Given the description of an element on the screen output the (x, y) to click on. 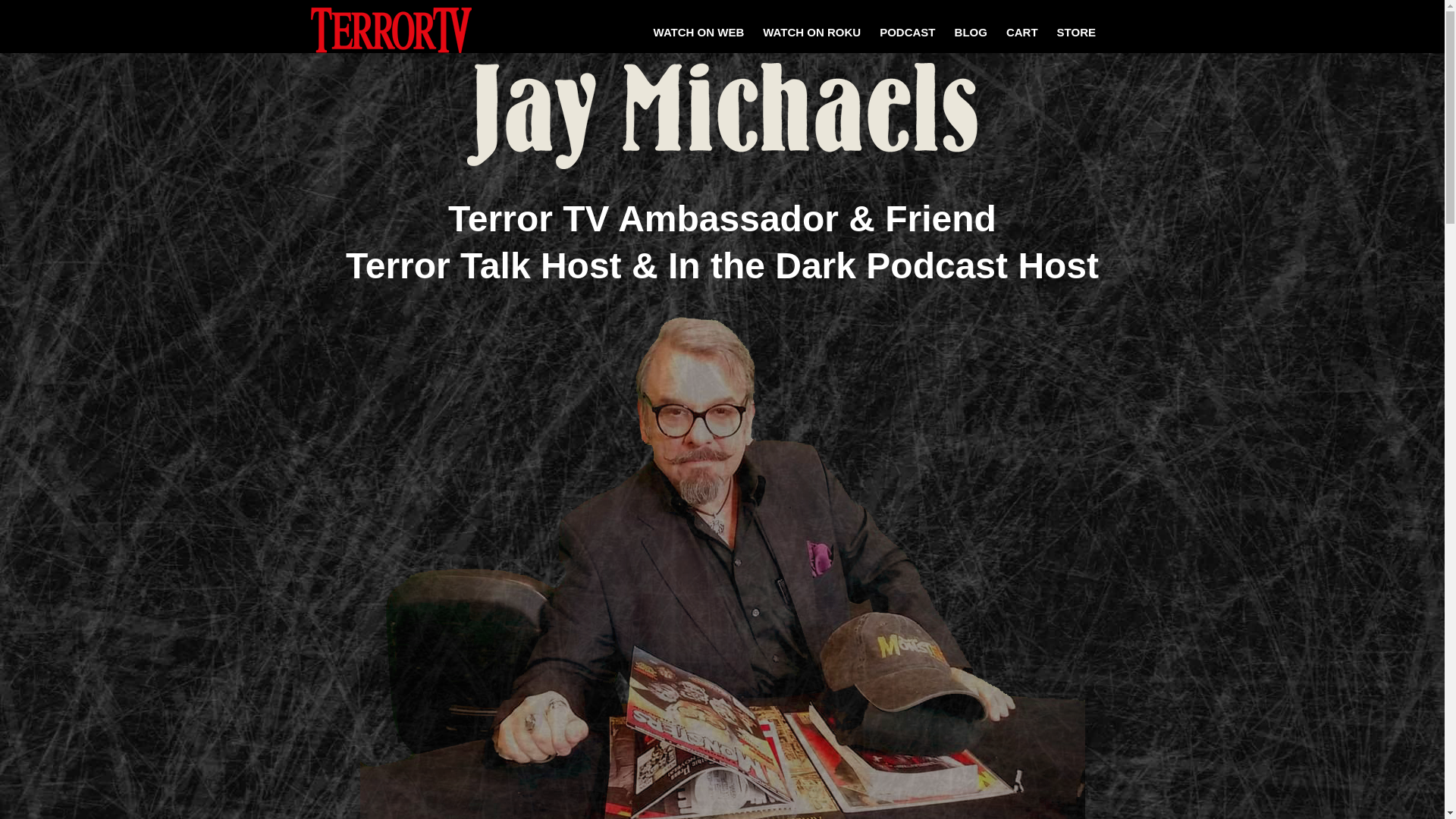
Terror TV (391, 29)
jay michaels (721, 115)
STORE (1076, 32)
WATCH ON WEB (699, 32)
BLOG (970, 32)
WATCH ON ROKU (811, 32)
PODCAST (907, 32)
CART (1021, 32)
